Given the description of an element on the screen output the (x, y) to click on. 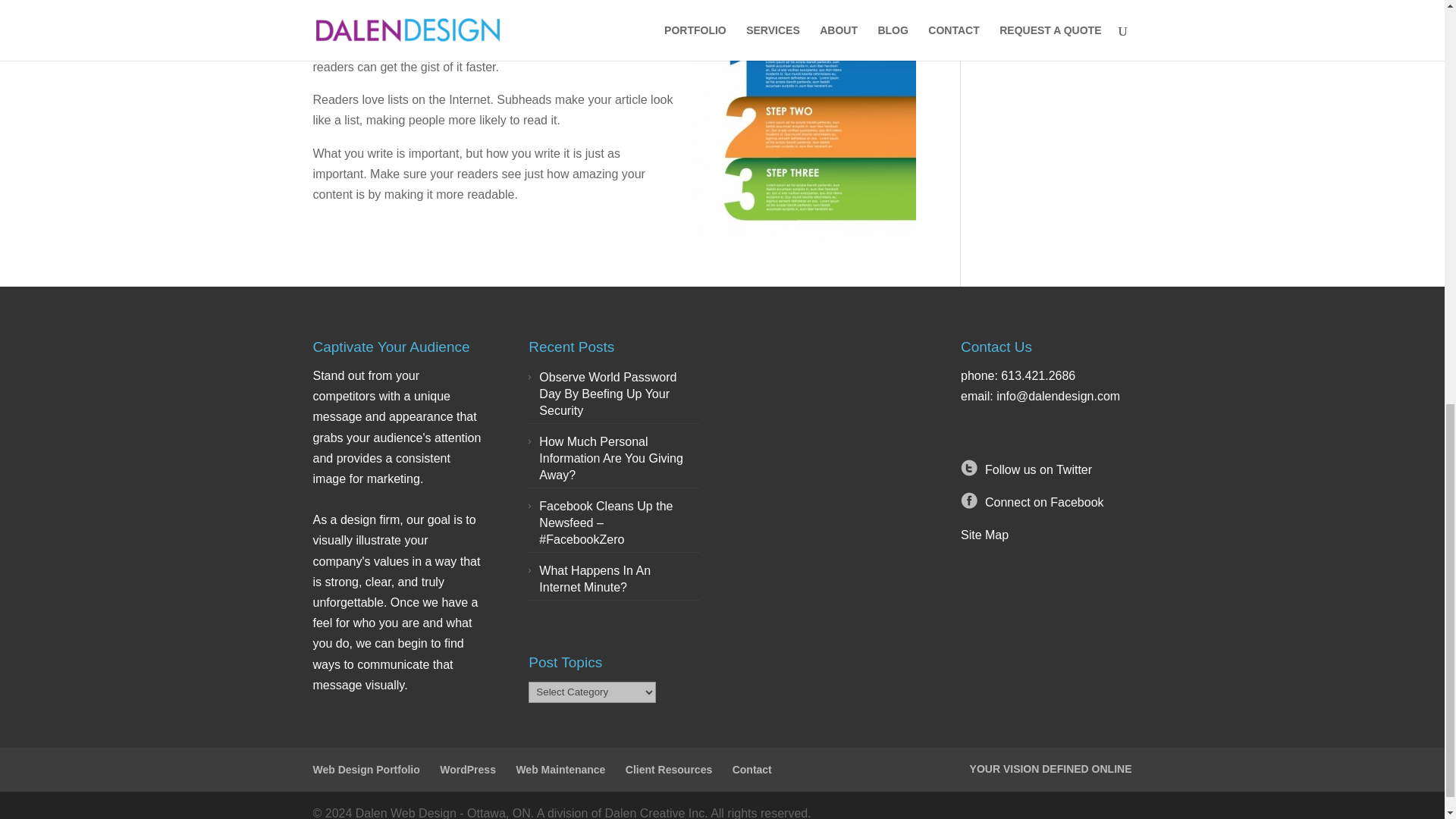
dalen design on facebook (1044, 502)
socialize1 (968, 463)
socialize2 (968, 496)
dalen design on tweeter (1038, 469)
